Given the description of an element on the screen output the (x, y) to click on. 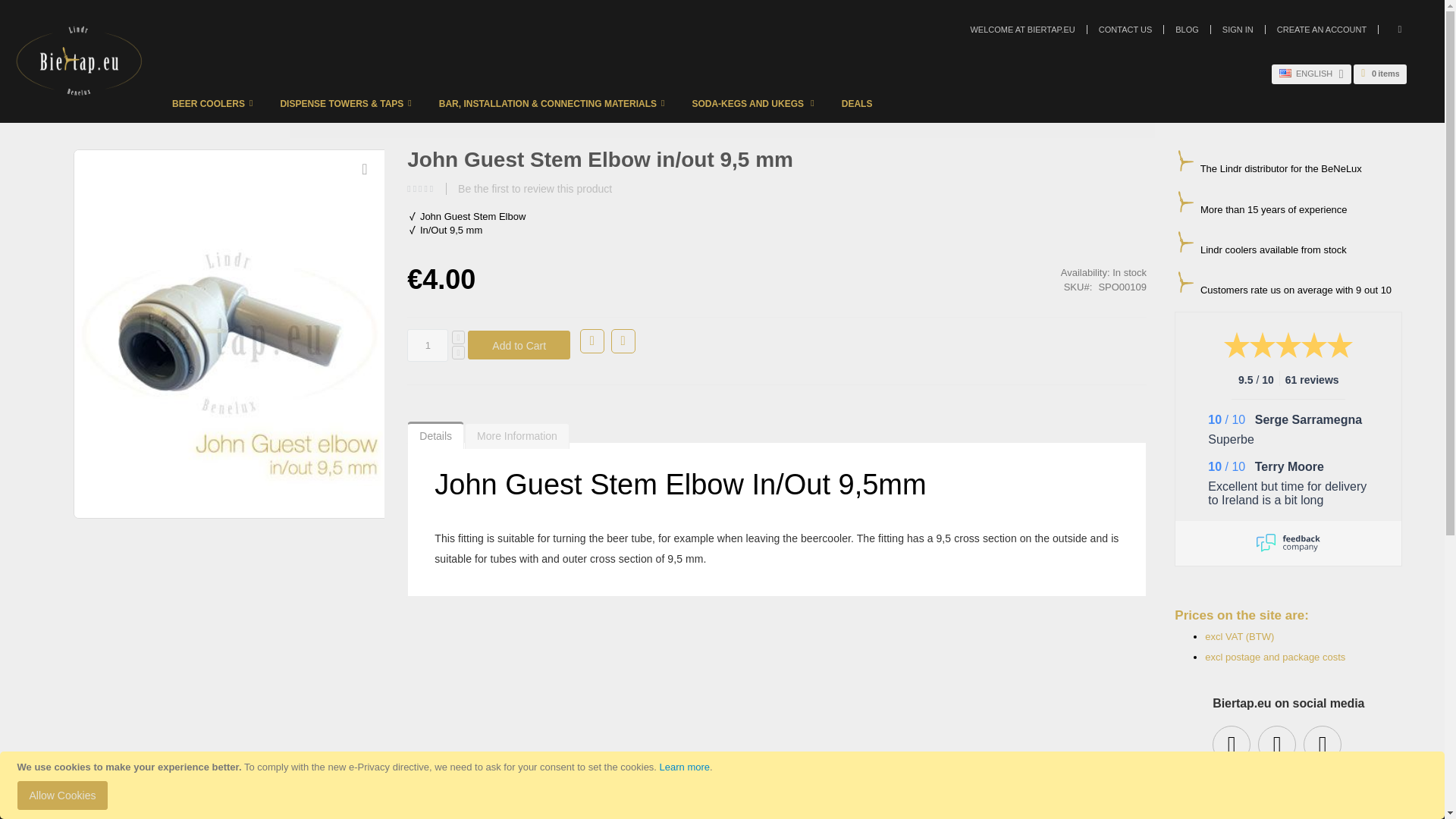
BEER COOLERS (1288, 542)
Allow Cookies (215, 103)
Beer coolers (61, 795)
Learn more (215, 103)
1 (684, 767)
Biertap.eu (427, 345)
